Given the description of an element on the screen output the (x, y) to click on. 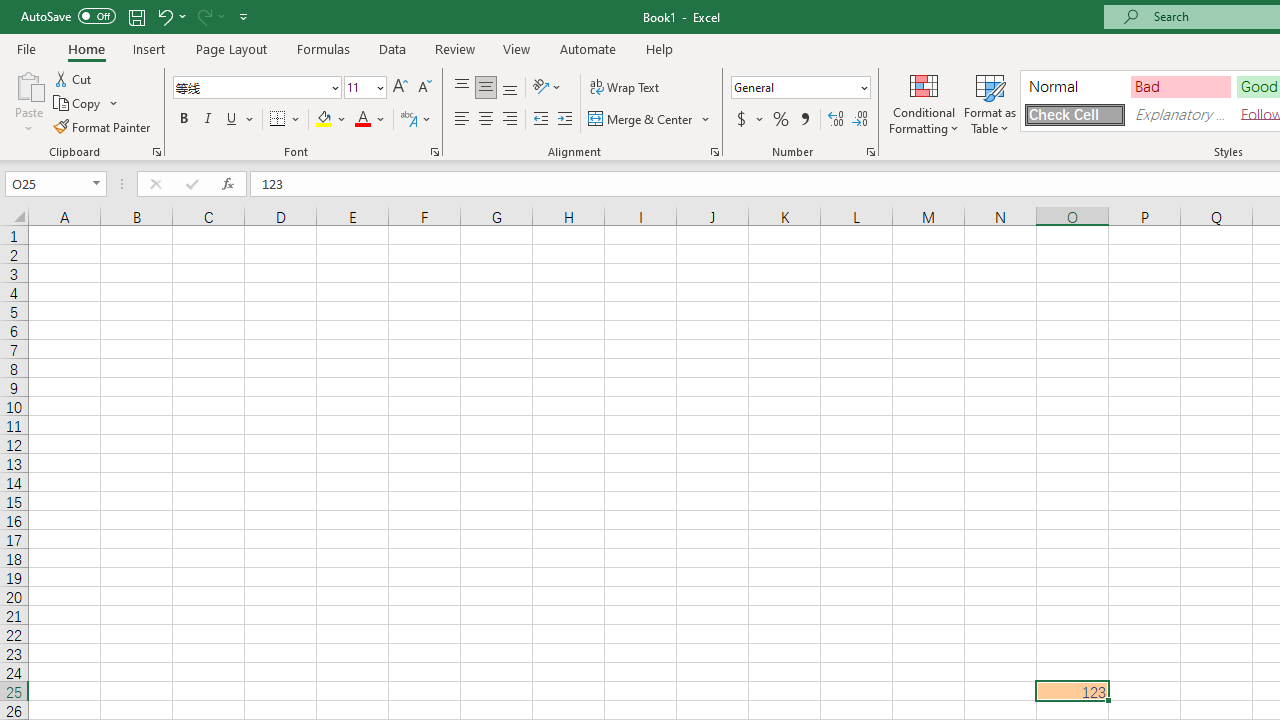
Copy (78, 103)
Paste (28, 84)
Increase Indent (565, 119)
Orientation (547, 87)
Center (485, 119)
Top Align (461, 87)
Decrease Indent (540, 119)
Number Format (800, 87)
Paste (28, 102)
